Given the description of an element on the screen output the (x, y) to click on. 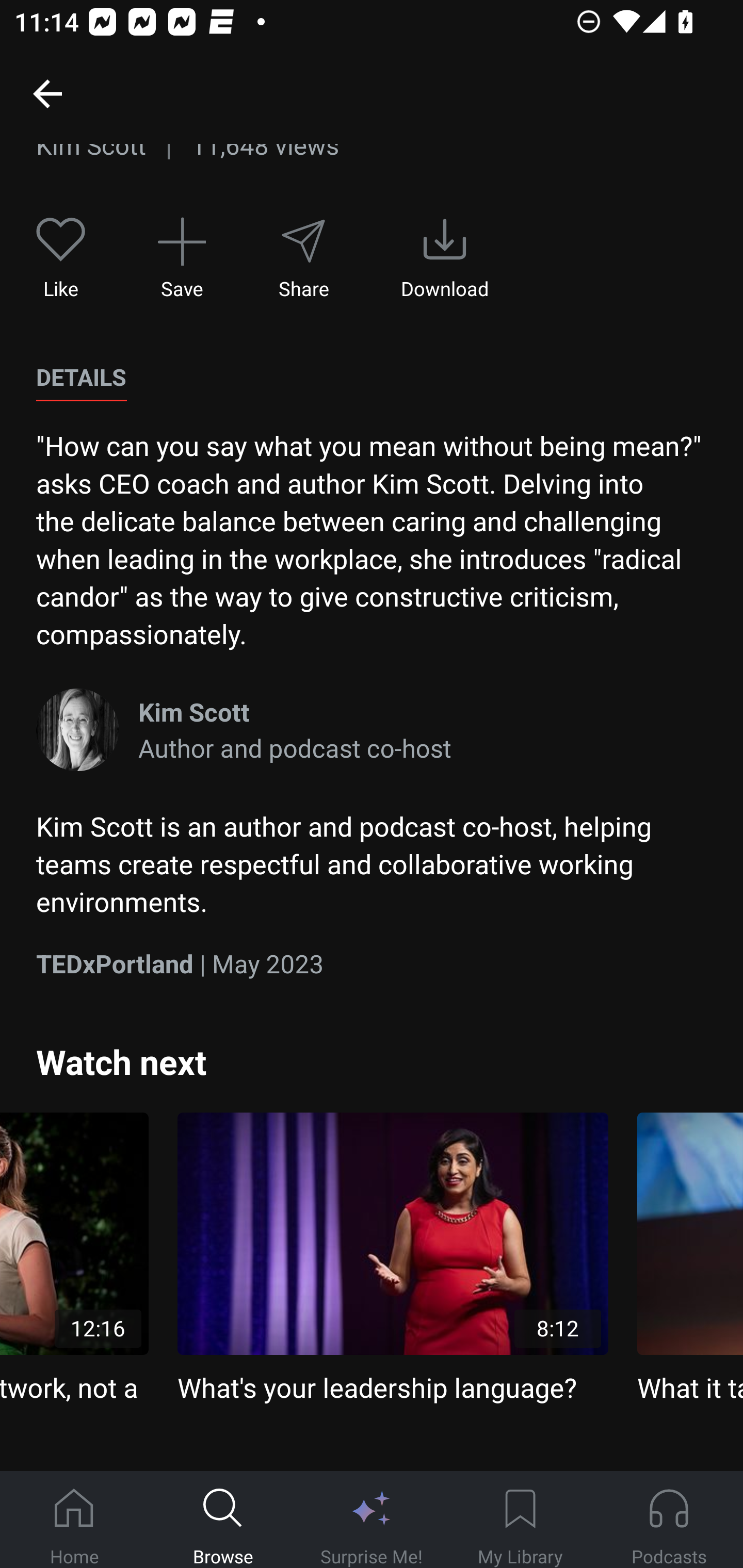
Search, back (47, 92)
Like (60, 258)
Save (181, 258)
Share (302, 258)
Download (444, 258)
DETAILS (80, 377)
8:12 What's your leadership language? (392, 1258)
Home (74, 1520)
Browse (222, 1520)
Surprise Me! (371, 1520)
My Library (519, 1520)
Podcasts (668, 1520)
